Given the description of an element on the screen output the (x, y) to click on. 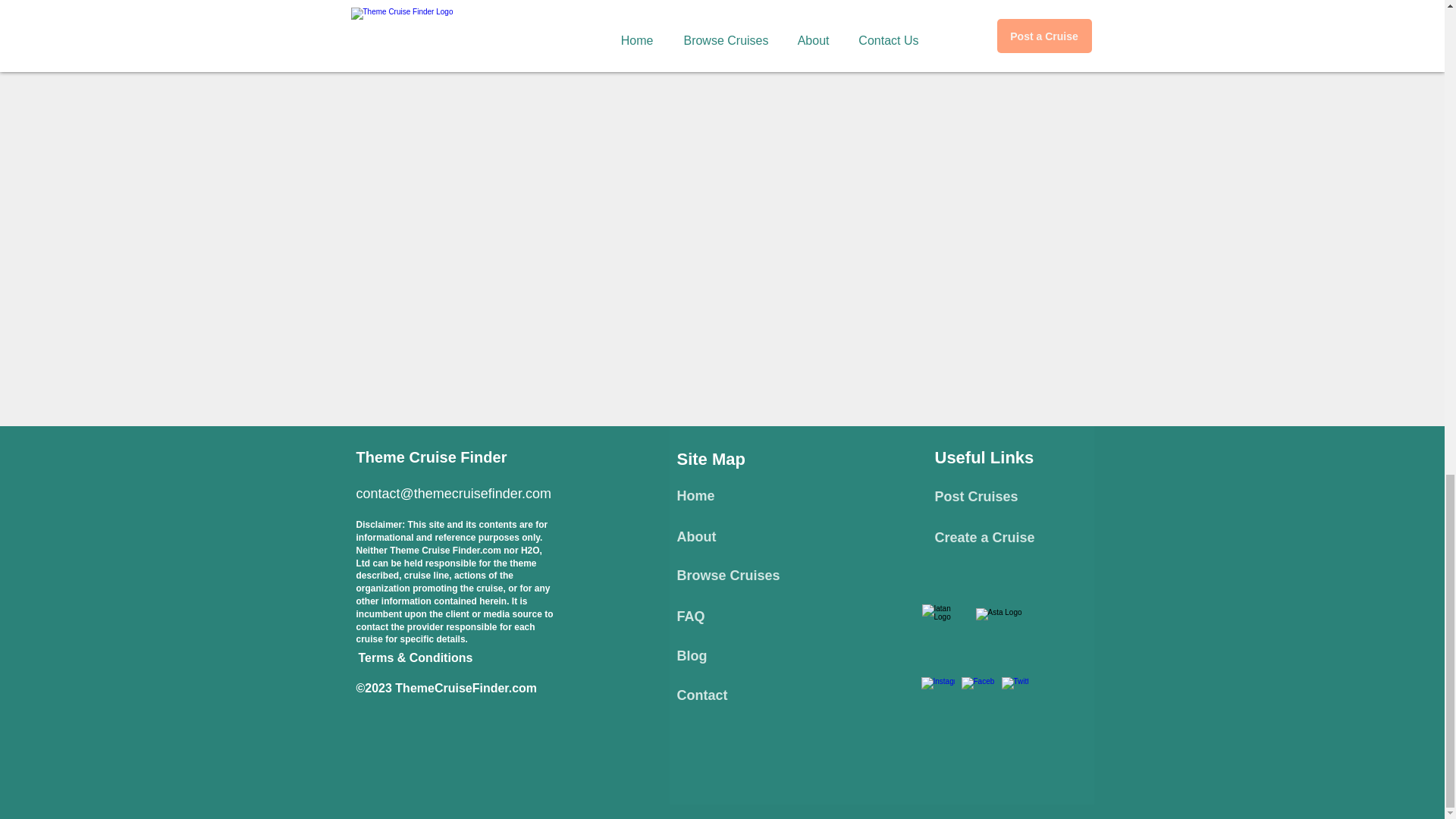
Wix (844, 724)
Home (695, 495)
FAQ (690, 616)
Create a Cruise (983, 537)
Contact (701, 694)
Theme Cruise Finder (431, 457)
Browse Cruises (727, 575)
Blog (691, 655)
About (696, 536)
Post Cruises (975, 496)
